Given the description of an element on the screen output the (x, y) to click on. 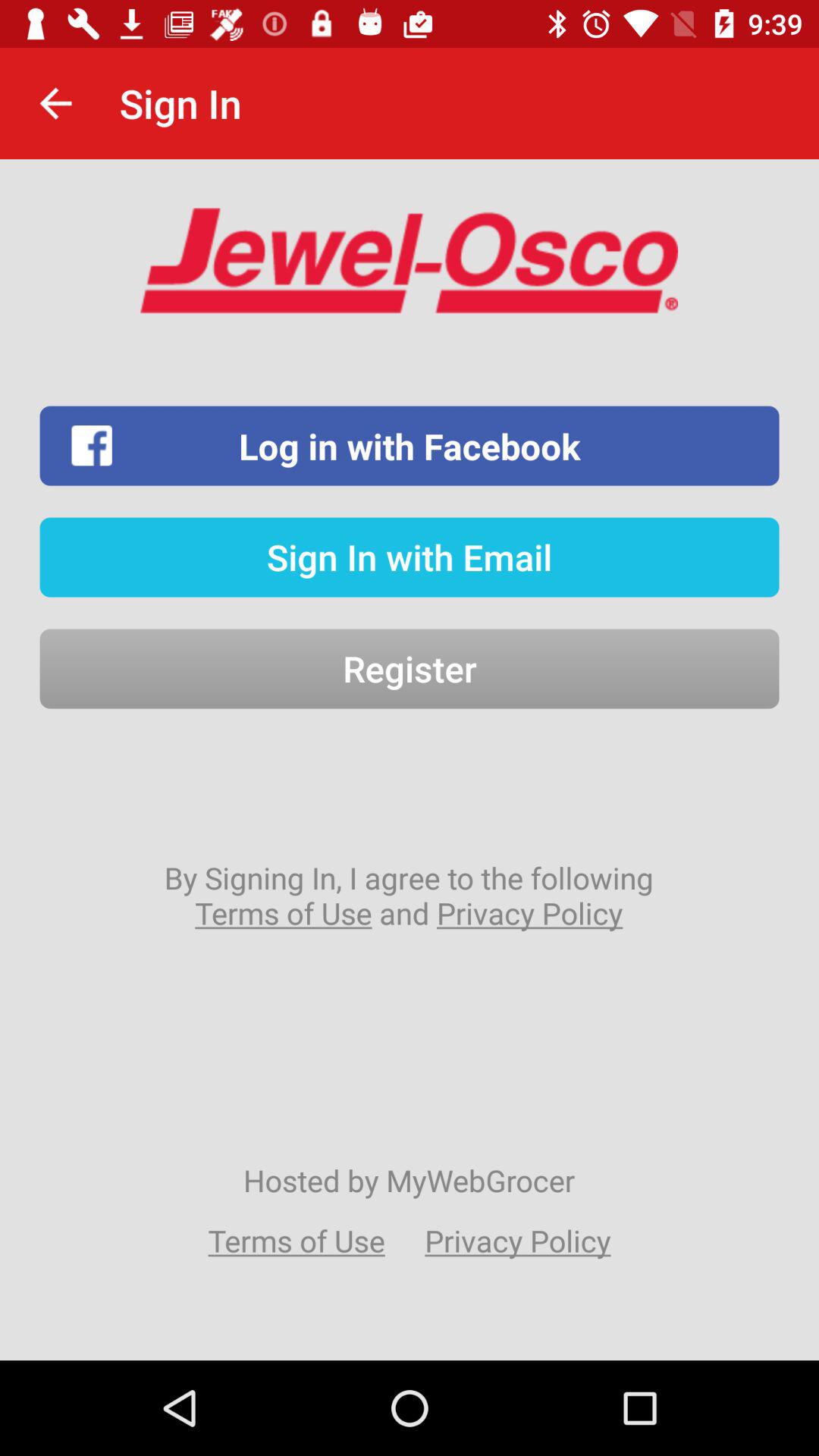
choose icon below the register (408, 895)
